Given the description of an element on the screen output the (x, y) to click on. 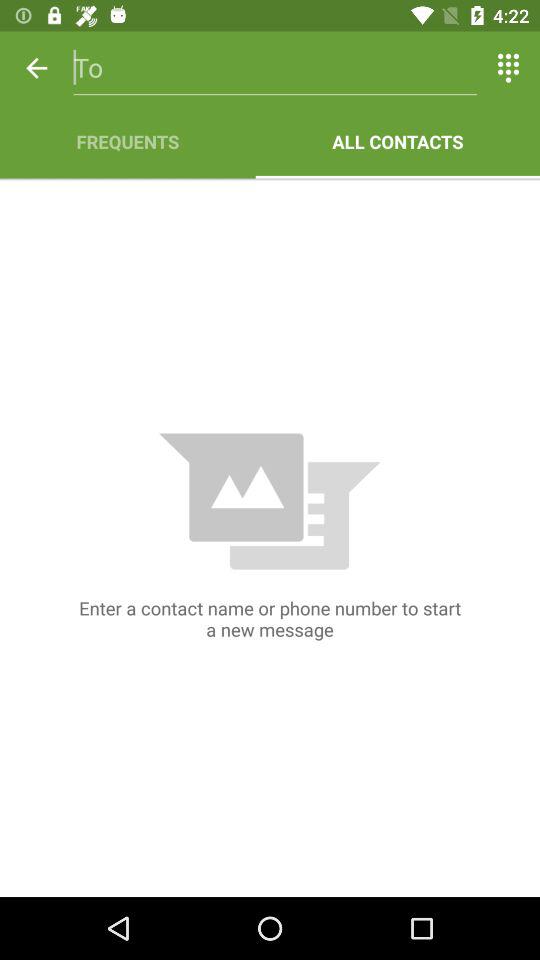
tap icon above the all contacts item (508, 67)
